Given the description of an element on the screen output the (x, y) to click on. 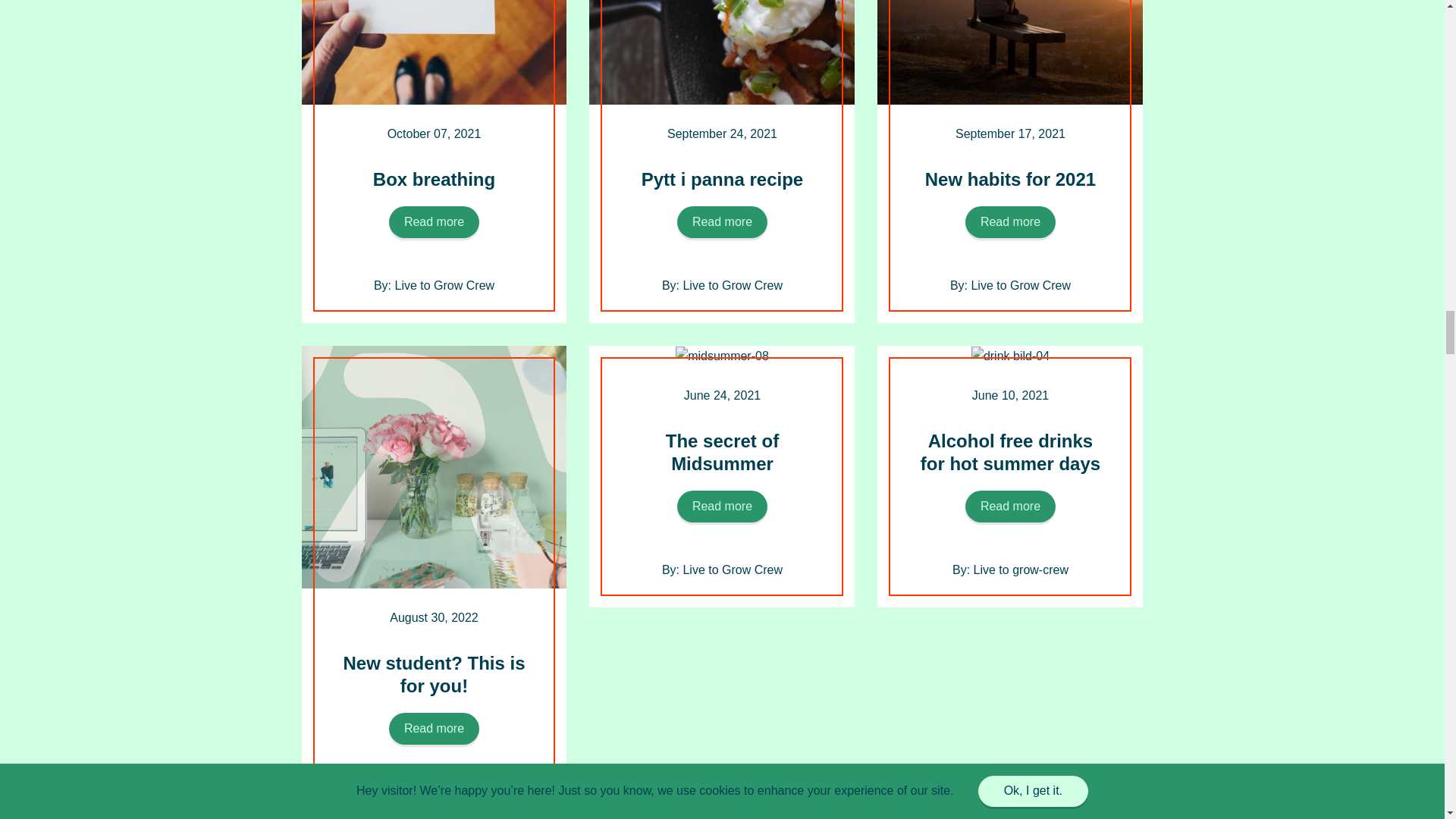
Read more (433, 222)
Read more (722, 506)
Read more (433, 728)
Read more (1010, 222)
Read more (722, 222)
